Given the description of an element on the screen output the (x, y) to click on. 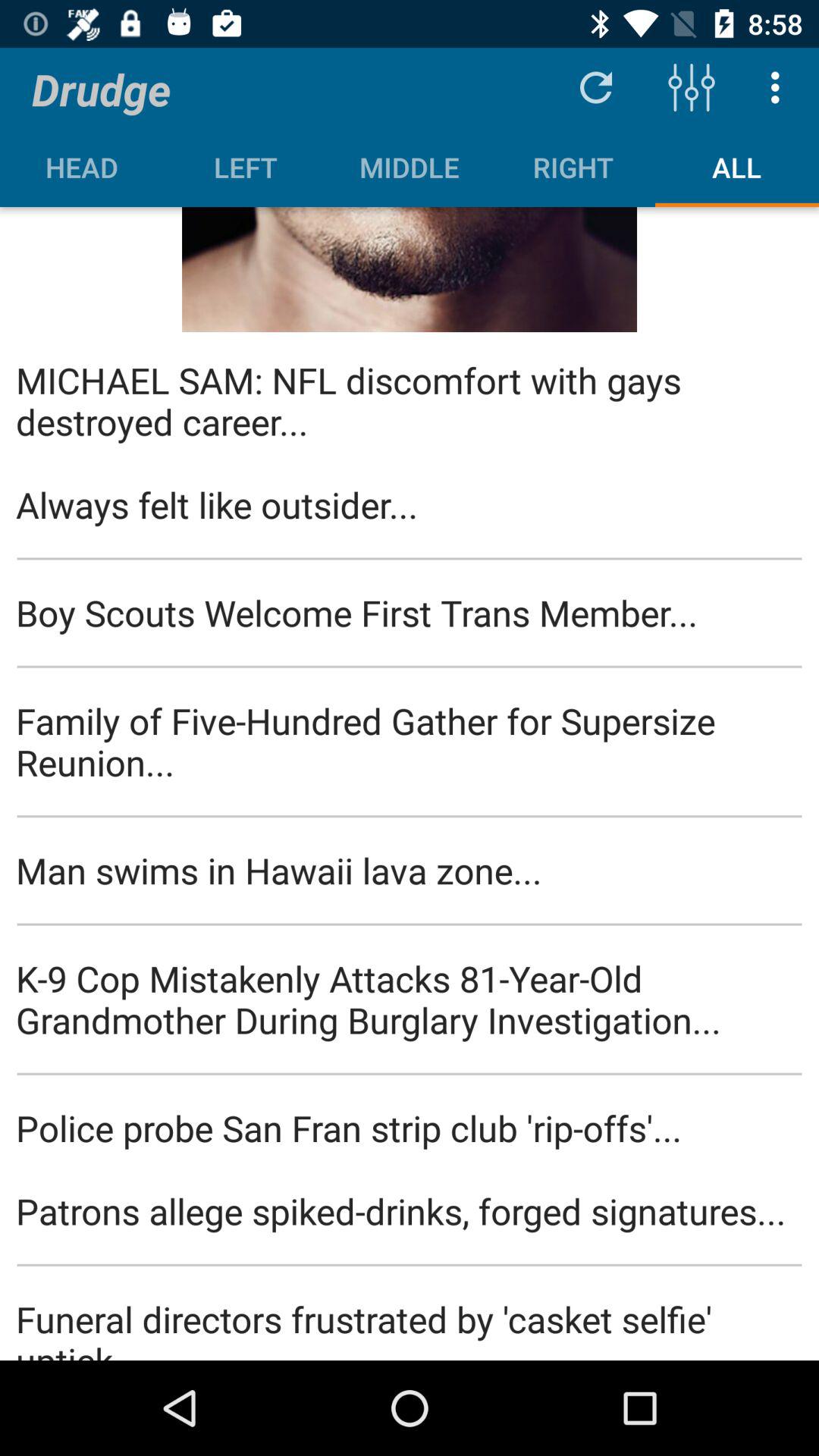
click the item above the right icon (595, 87)
